Given the description of an element on the screen output the (x, y) to click on. 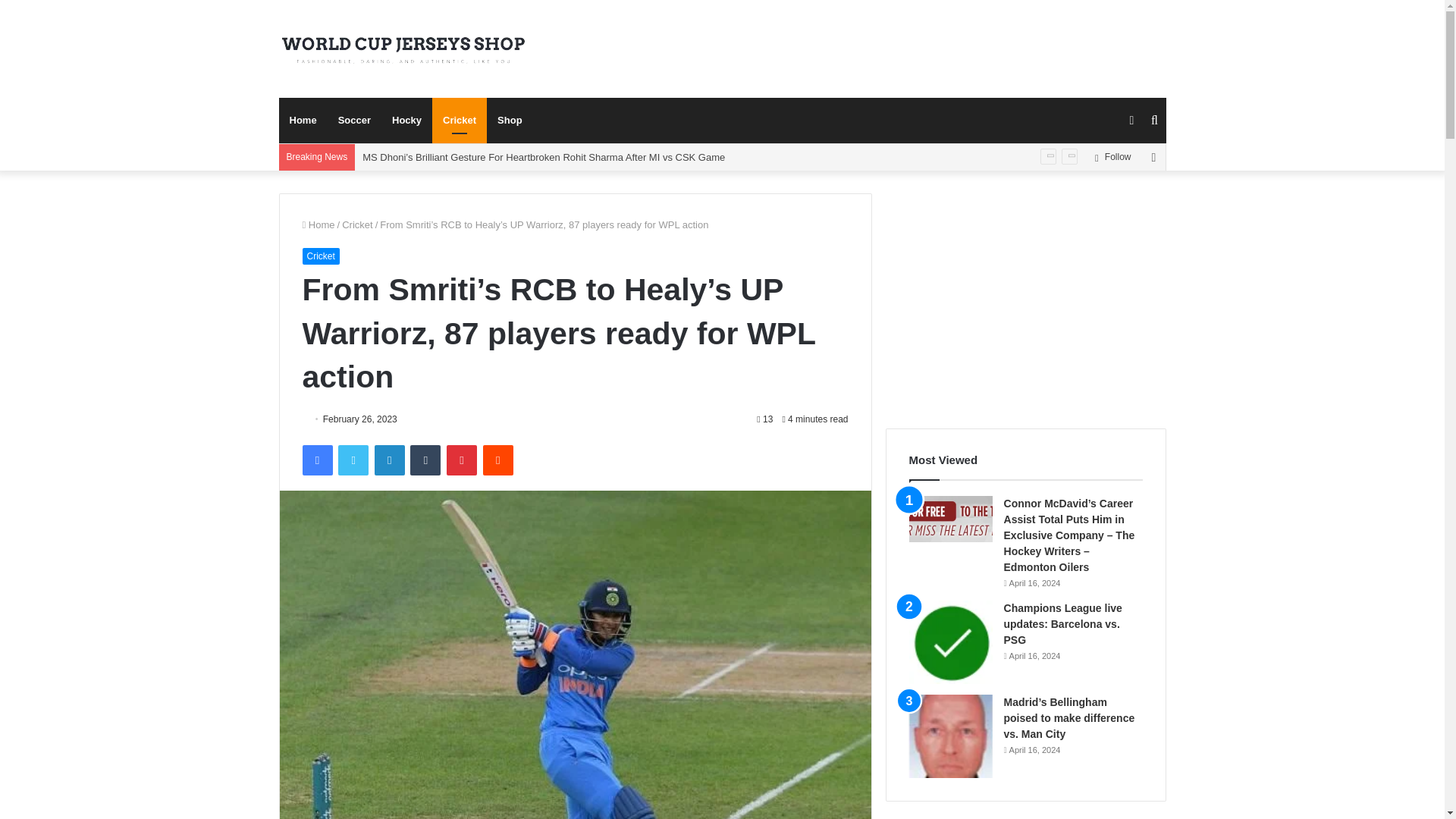
Hocky (406, 120)
Home (317, 224)
Pinterest (461, 460)
Shop (509, 120)
Twitter (352, 460)
Cricket (320, 256)
Follow (1112, 157)
Reddit (498, 460)
Cricket (357, 224)
Cricket (459, 120)
LinkedIn (389, 460)
LinkedIn (389, 460)
WORLD CUP JERSEYS SHOP (403, 50)
Reddit (498, 460)
Home (303, 120)
